Given the description of an element on the screen output the (x, y) to click on. 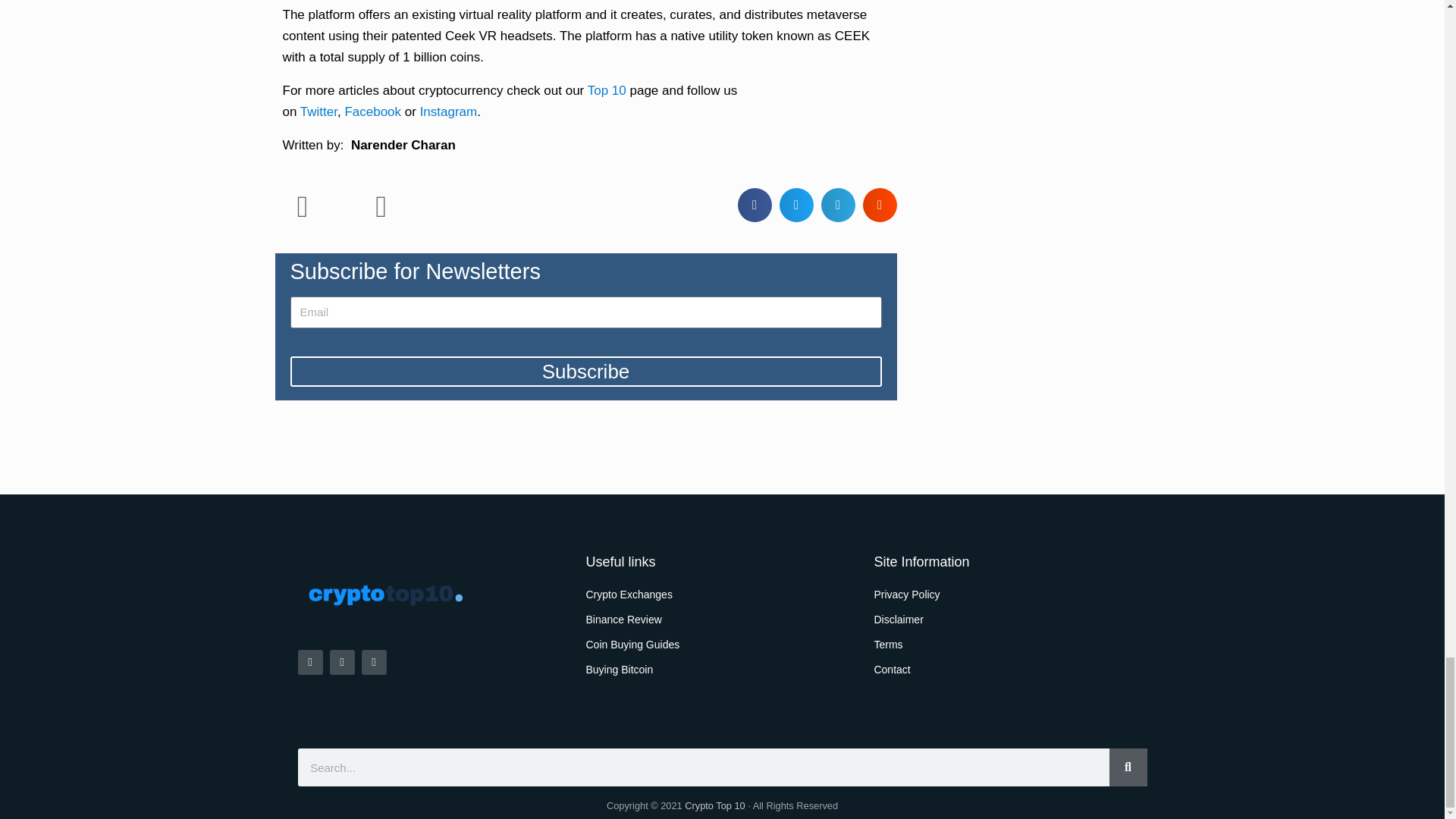
Search (702, 767)
Search (1127, 767)
Crypto Top 10 (714, 805)
